Given the description of an element on the screen output the (x, y) to click on. 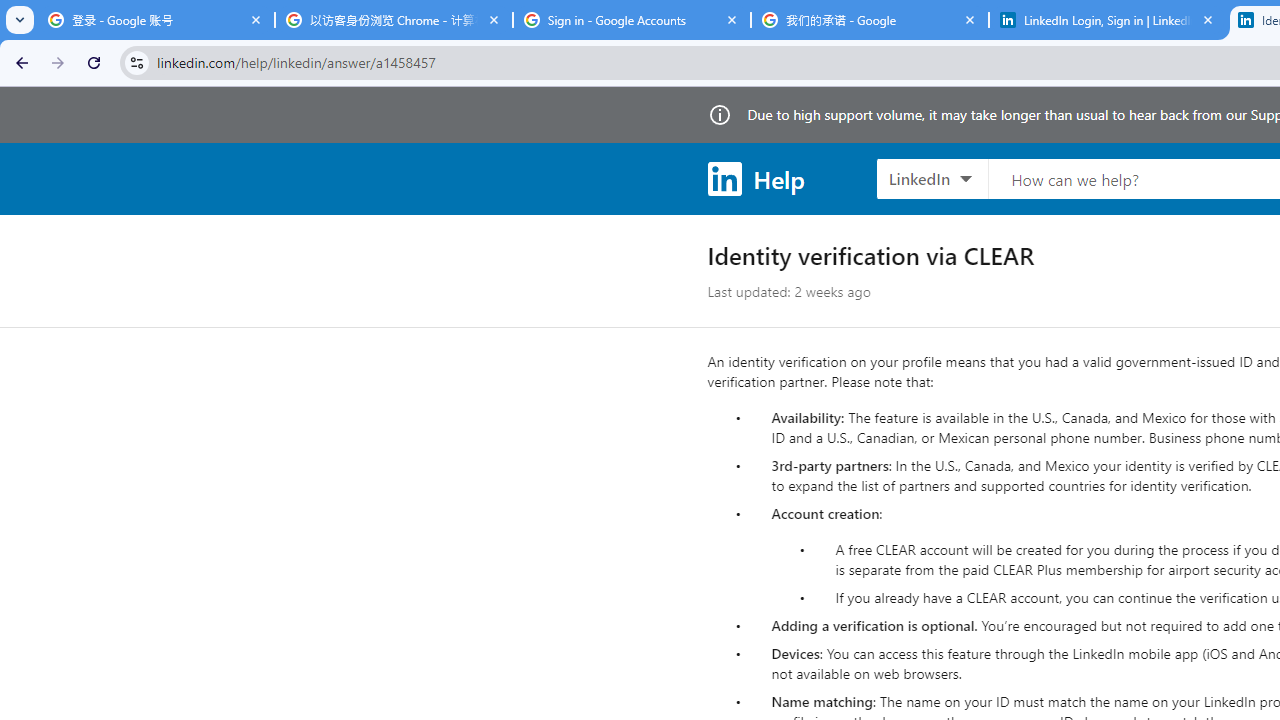
Sign in - Google Accounts (632, 20)
LinkedIn Login, Sign in | LinkedIn (1108, 20)
LinkedIn products to search, LinkedIn selected (932, 178)
